Given the description of an element on the screen output the (x, y) to click on. 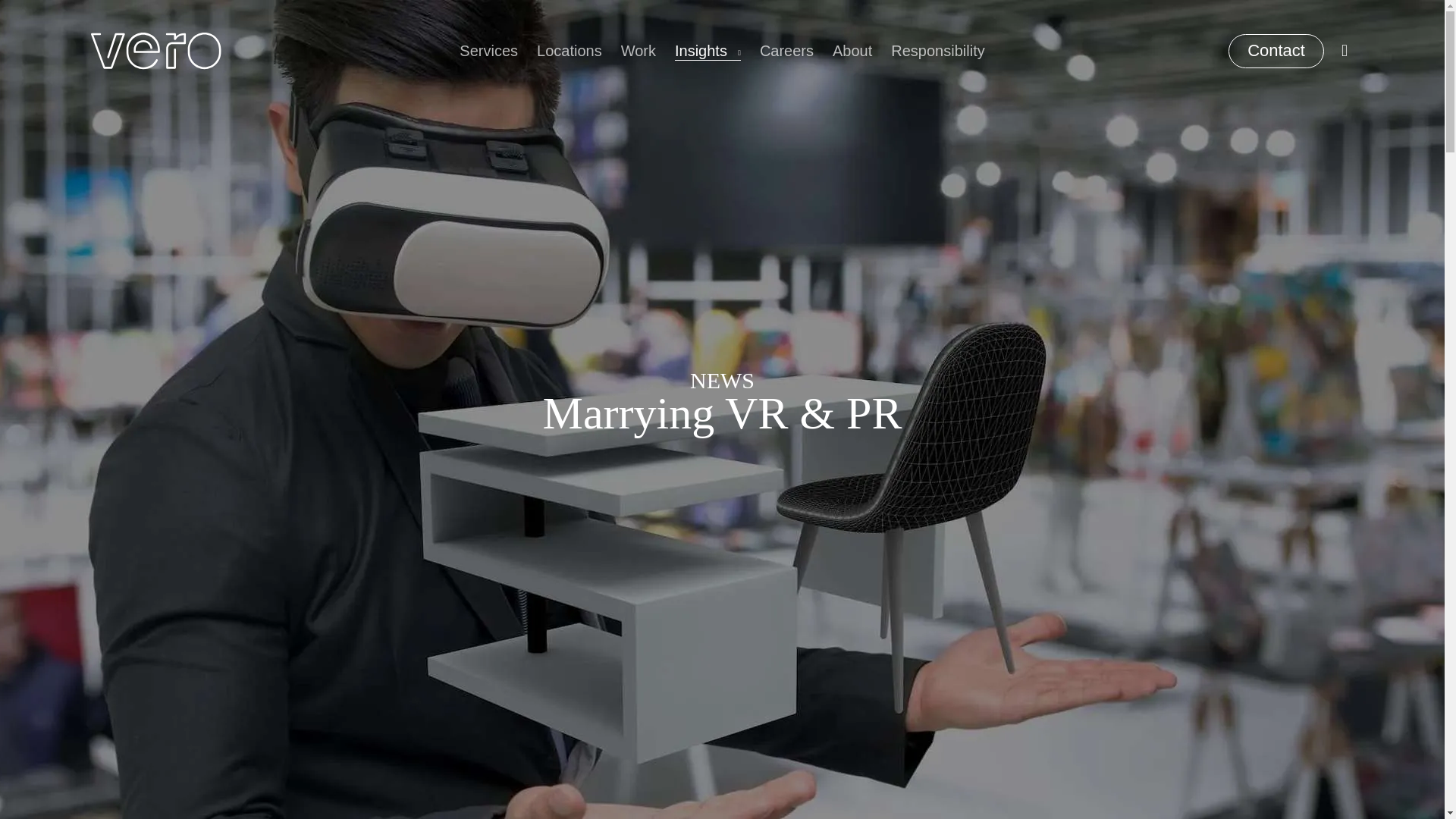
Locations (569, 50)
Locations (569, 50)
Work (638, 50)
Contact (1275, 50)
Services (489, 50)
Careers (786, 50)
About (852, 50)
About (852, 50)
Responsibility (937, 50)
Insights (708, 50)
